Given the description of an element on the screen output the (x, y) to click on. 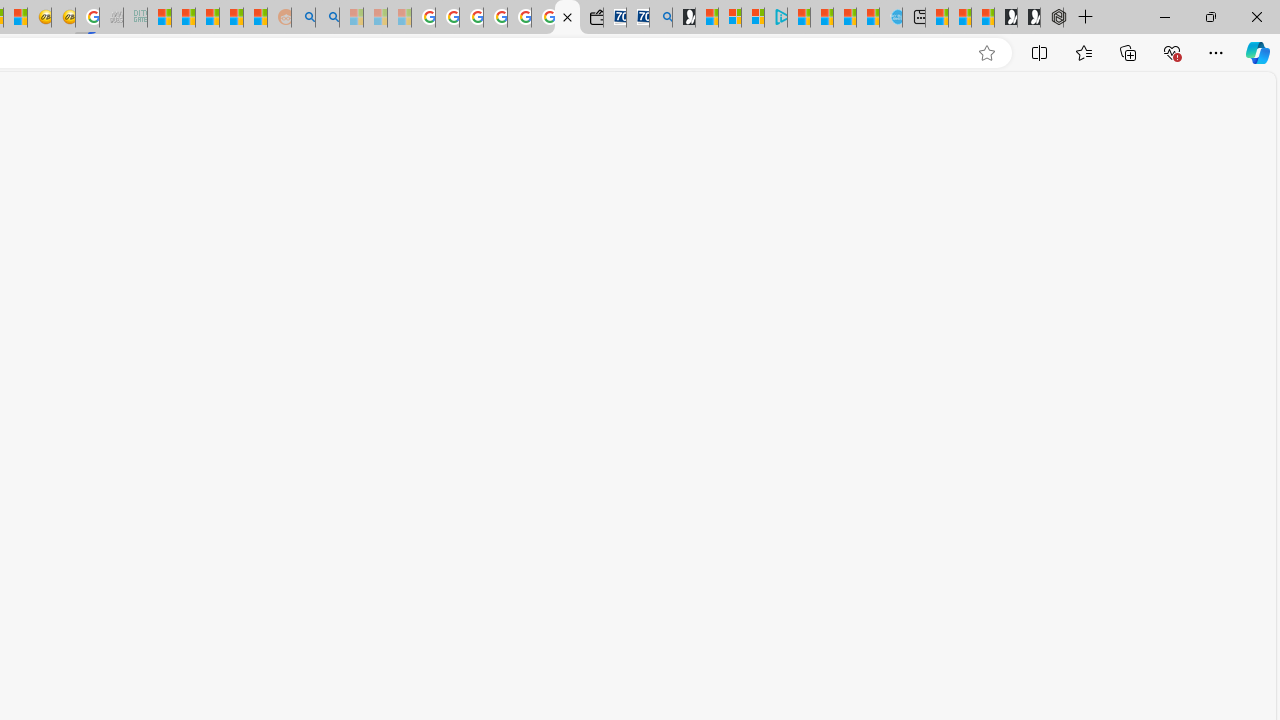
Microsoft Start Gaming (684, 17)
Play Free Online Games | Games from Microsoft Start (1028, 17)
DITOGAMES AG Imprint - Sleeping (135, 17)
